Given the description of an element on the screen output the (x, y) to click on. 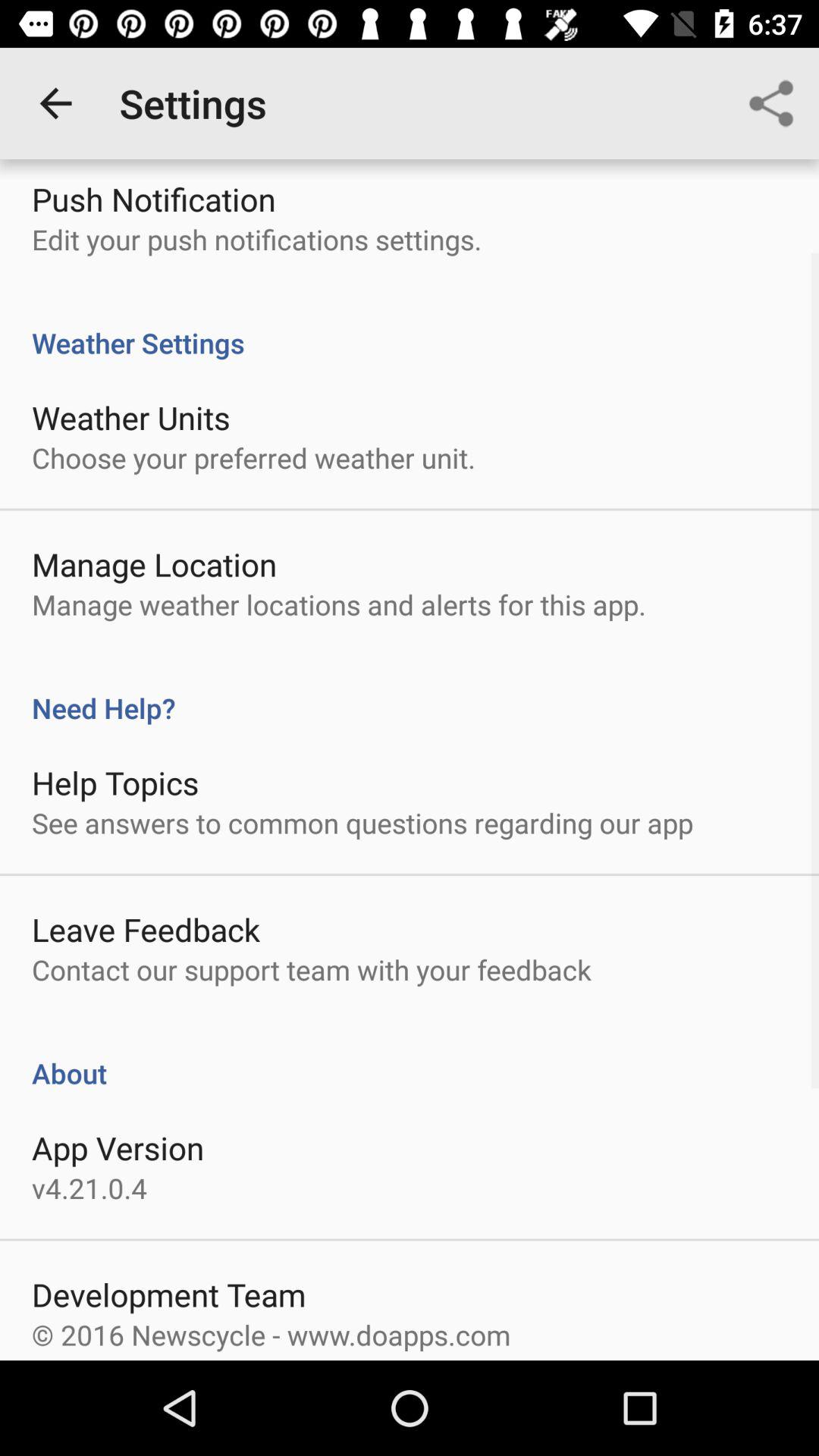
select manage weather locations icon (338, 604)
